Given the description of an element on the screen output the (x, y) to click on. 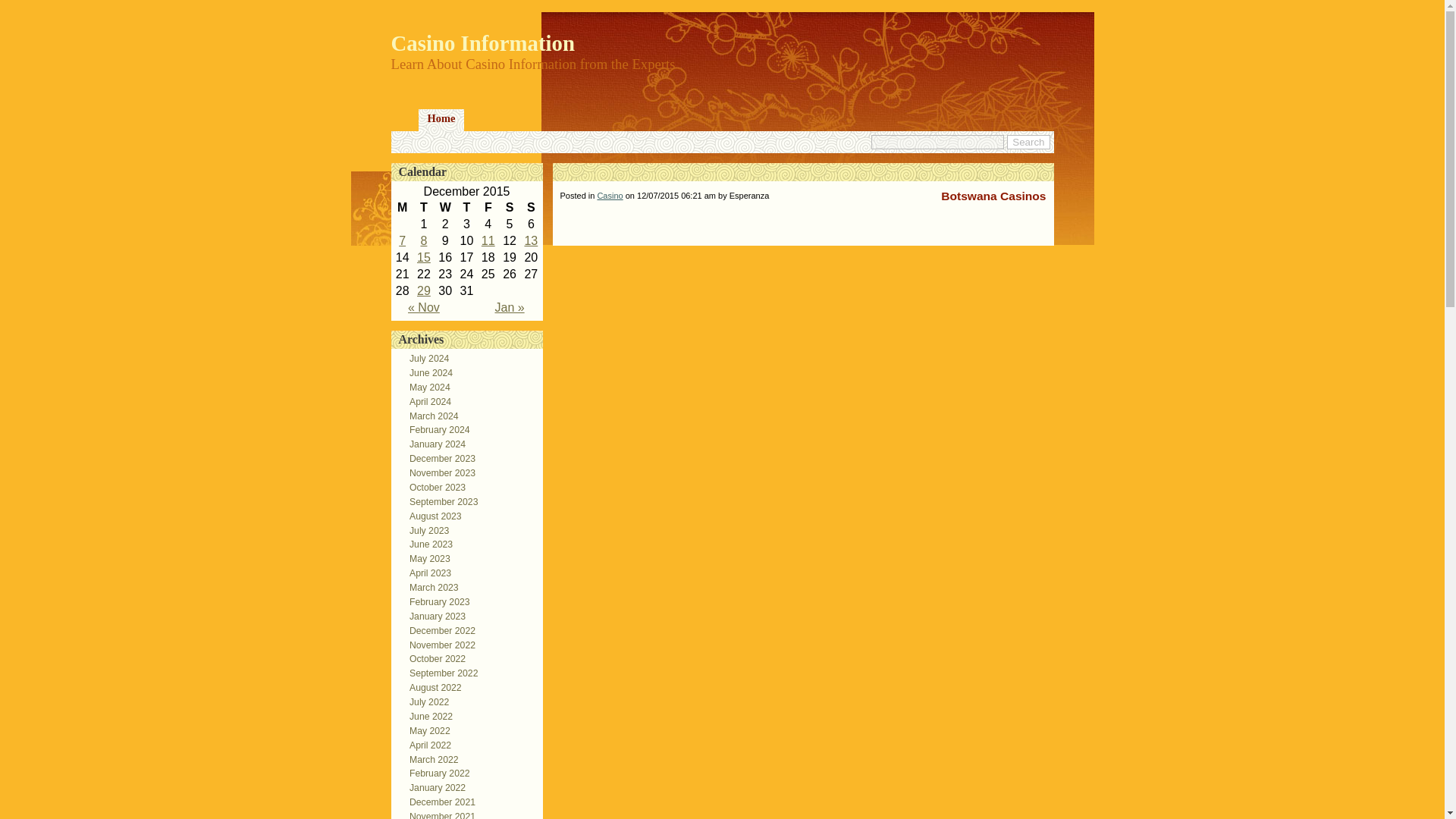
May 2024 (424, 387)
11 (488, 240)
November 2023 (438, 472)
January 2023 (432, 615)
July 2023 (424, 530)
Thursday (466, 207)
December 2023 (438, 458)
June 2022 (426, 716)
View posts for November 2015 (423, 307)
15 (423, 256)
November 2022 (438, 644)
Sunday (530, 207)
Casino Information (483, 43)
Search (1028, 142)
Tuesday (423, 207)
